Given the description of an element on the screen output the (x, y) to click on. 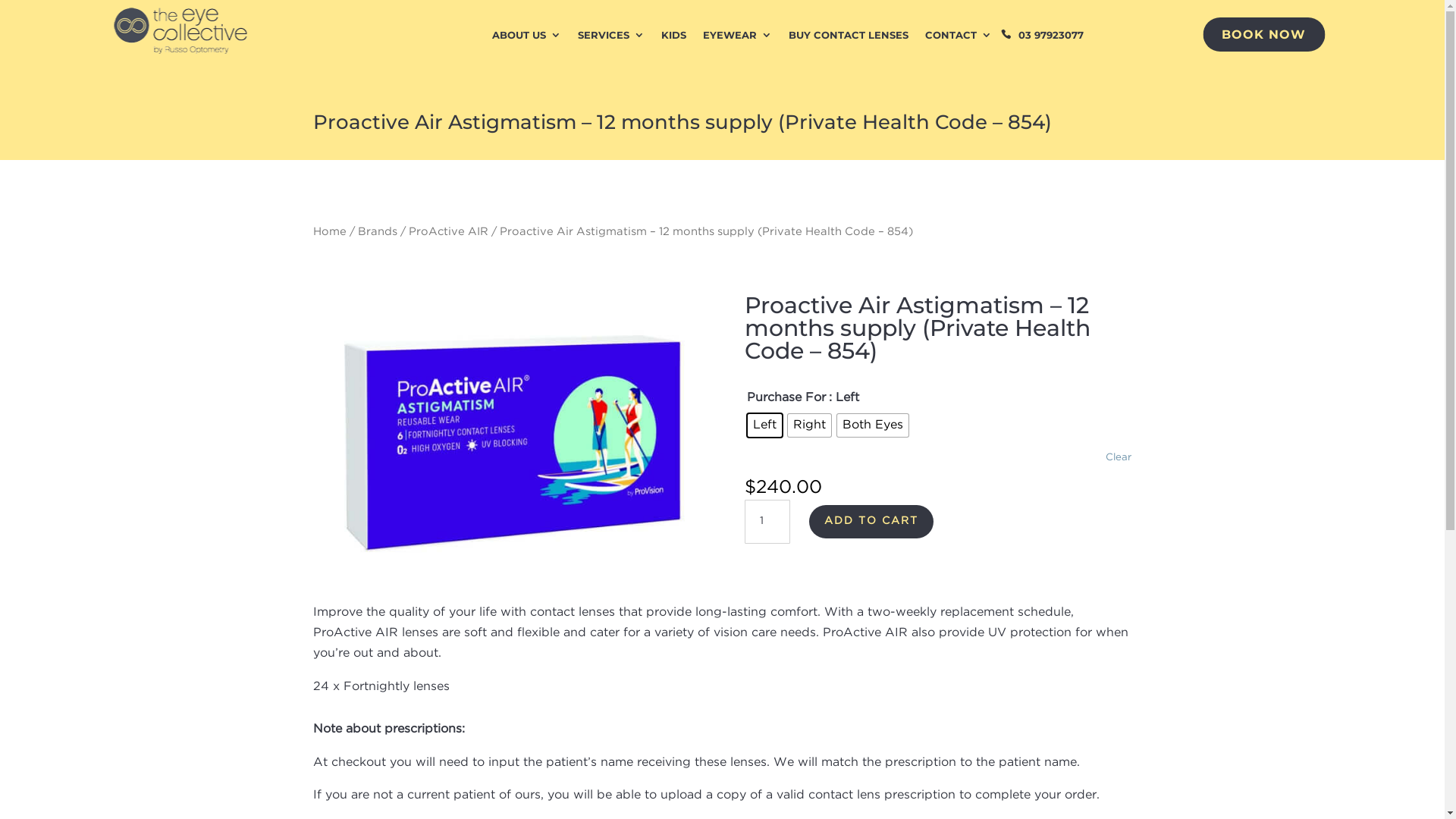
EYEWEAR Element type: text (736, 36)
ADD TO CART Element type: text (871, 521)
CONTACT Element type: text (958, 36)
KIDS Element type: text (673, 36)
BOOK NOW Element type: text (1263, 34)
the-eye-collective-logo-homepage Element type: hover (180, 30)
Home Element type: text (328, 231)
ProActive AIR Element type: text (447, 231)
Clear Element type: text (1118, 457)
ProActive-AIR-ASTIGMATISM-6-pack-eye-collective-dandenong Element type: hover (505, 437)
Brands Element type: text (377, 231)
03 97923077 Element type: text (1045, 36)
SERVICES Element type: text (610, 36)
BUY CONTACT LENSES Element type: text (848, 36)
ABOUT US Element type: text (526, 36)
